Given the description of an element on the screen output the (x, y) to click on. 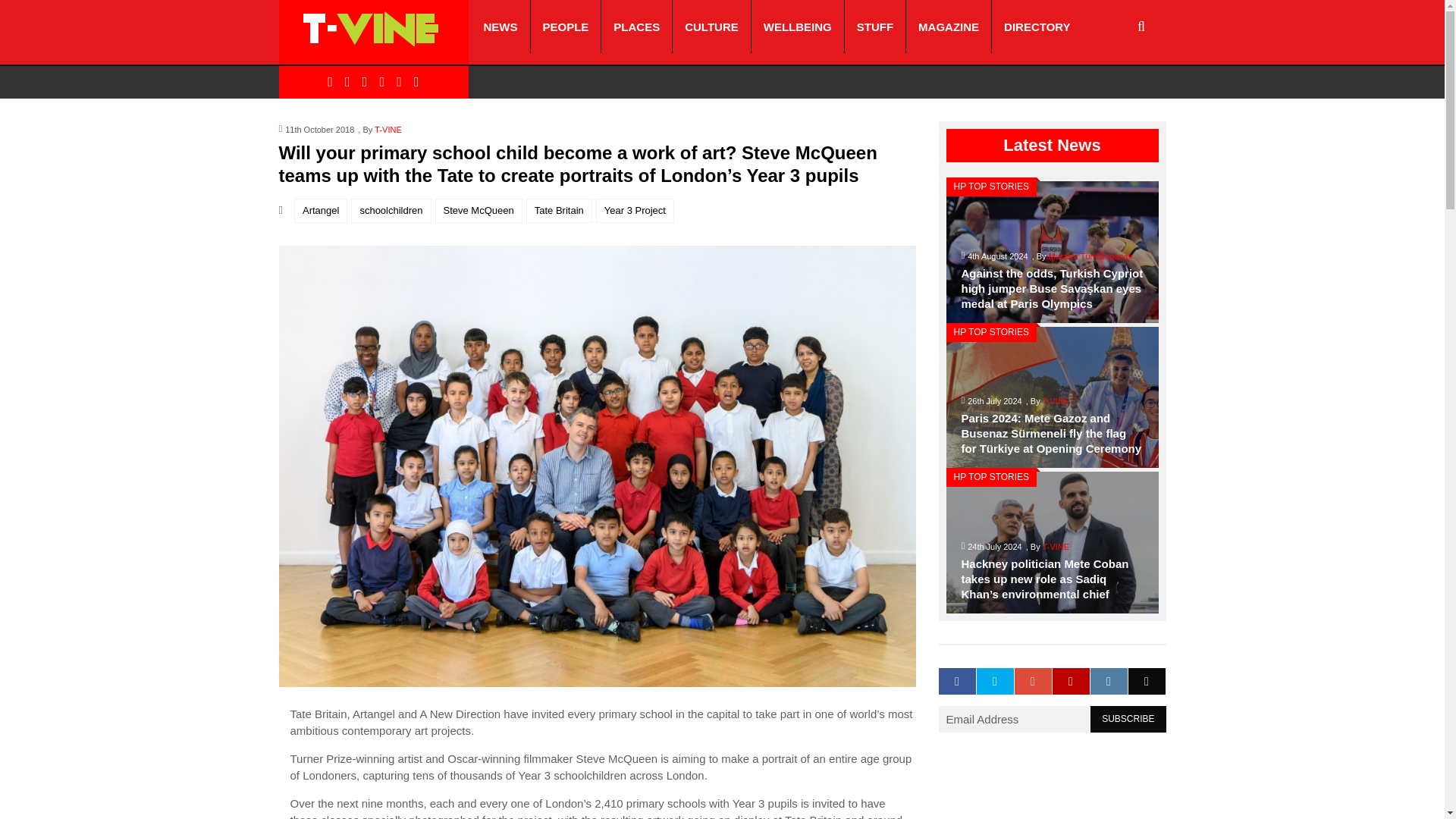
PEOPLE (566, 26)
CULTURE (711, 26)
PLACES (636, 26)
NEWS (500, 26)
Subscribe (1128, 718)
